Given the description of an element on the screen output the (x, y) to click on. 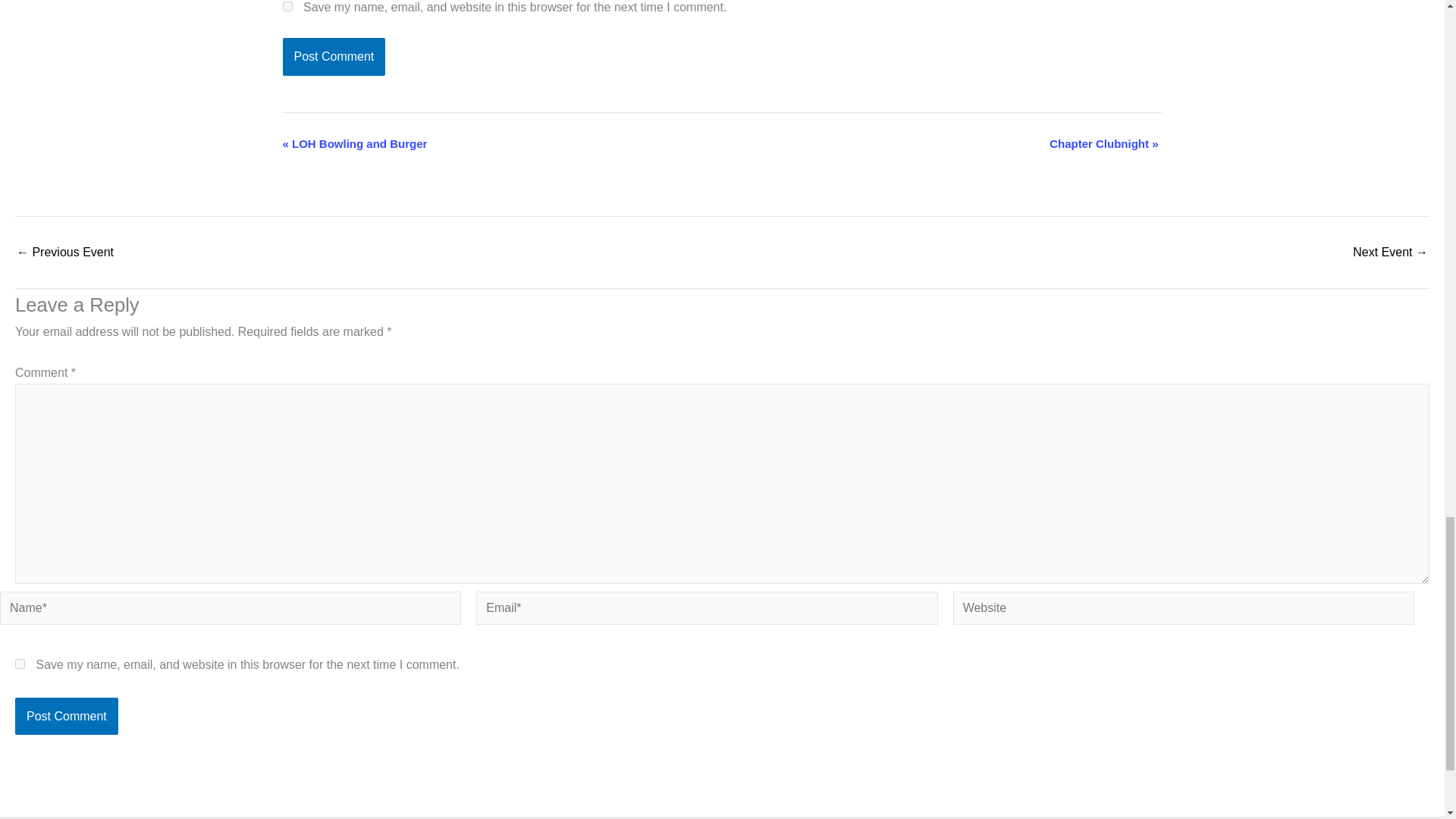
Post Comment (333, 56)
yes (287, 6)
Post Comment (333, 56)
Chapter Clubnight (1390, 252)
Post Comment (65, 716)
Post Comment (65, 716)
yes (19, 664)
Chapter Clubnight (64, 252)
